Given the description of an element on the screen output the (x, y) to click on. 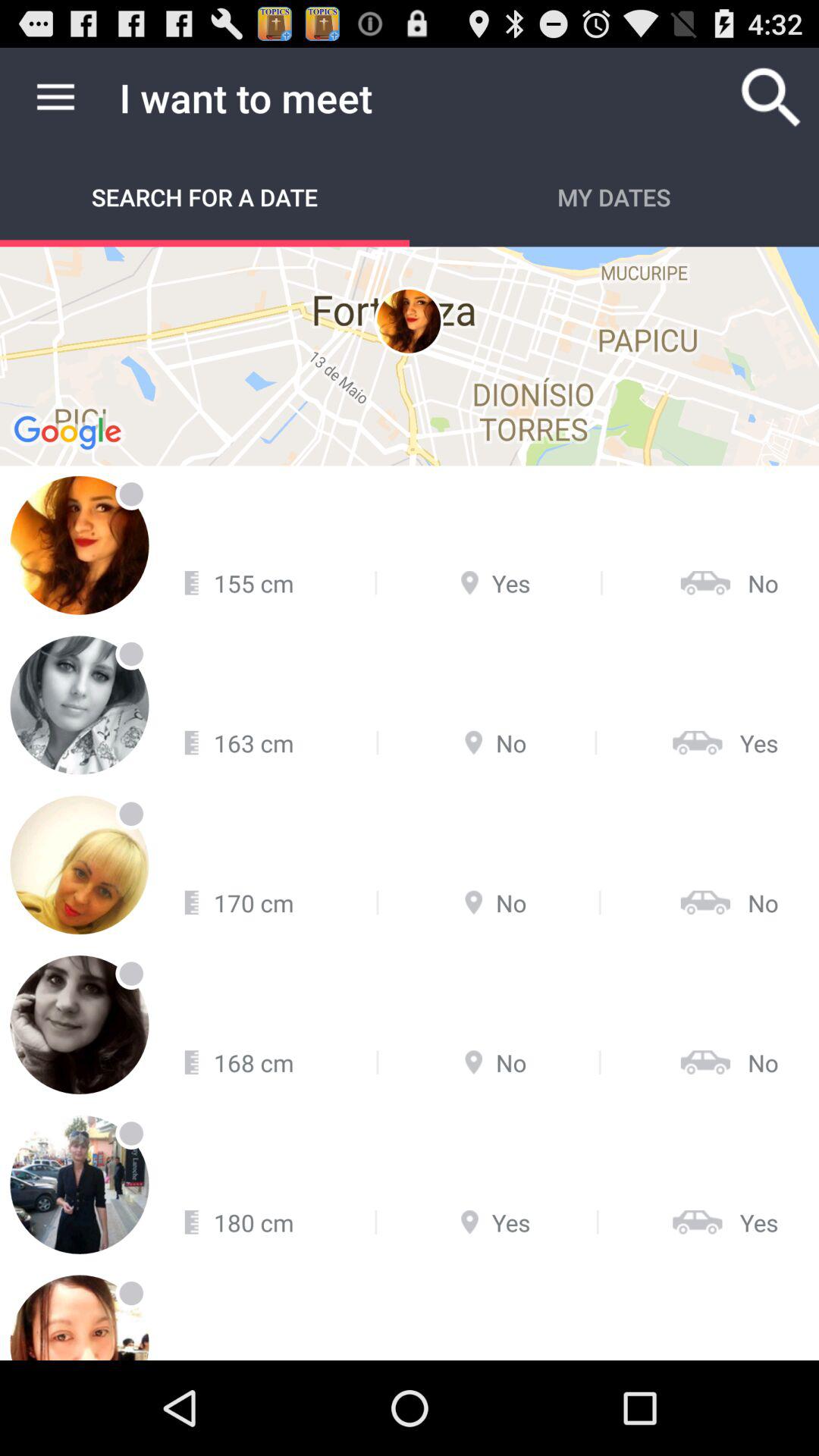
launch icon next to the i want to app (55, 97)
